Given the description of an element on the screen output the (x, y) to click on. 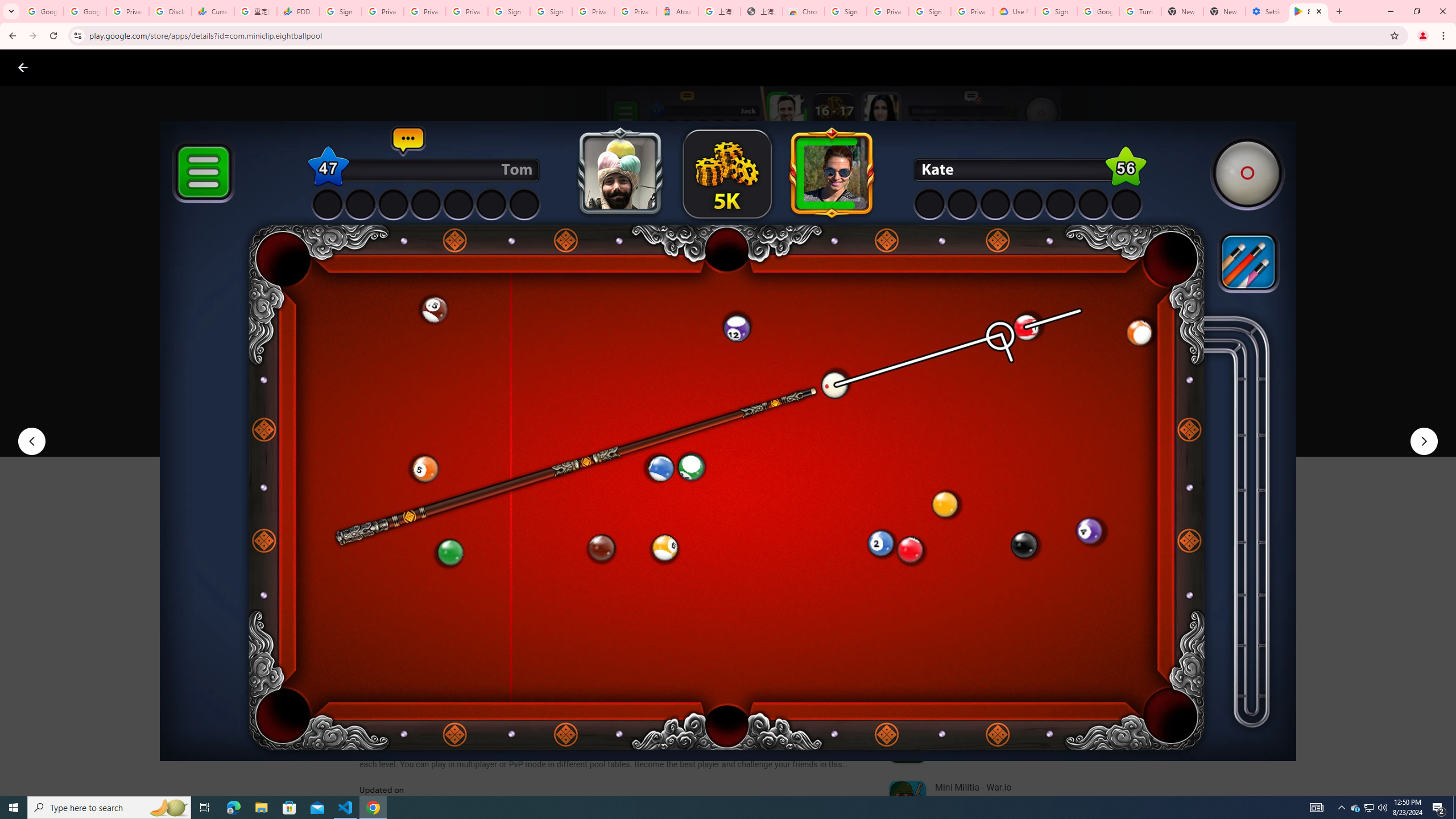
PDD Holdings Inc - ADR (PDD) Price & News - Google Finance (298, 11)
Privacy Checkup (424, 11)
See more information on More by Miniclip.com (1029, 539)
Turn cookies on or off - Computer - Google Account Help (1139, 11)
